Given the description of an element on the screen output the (x, y) to click on. 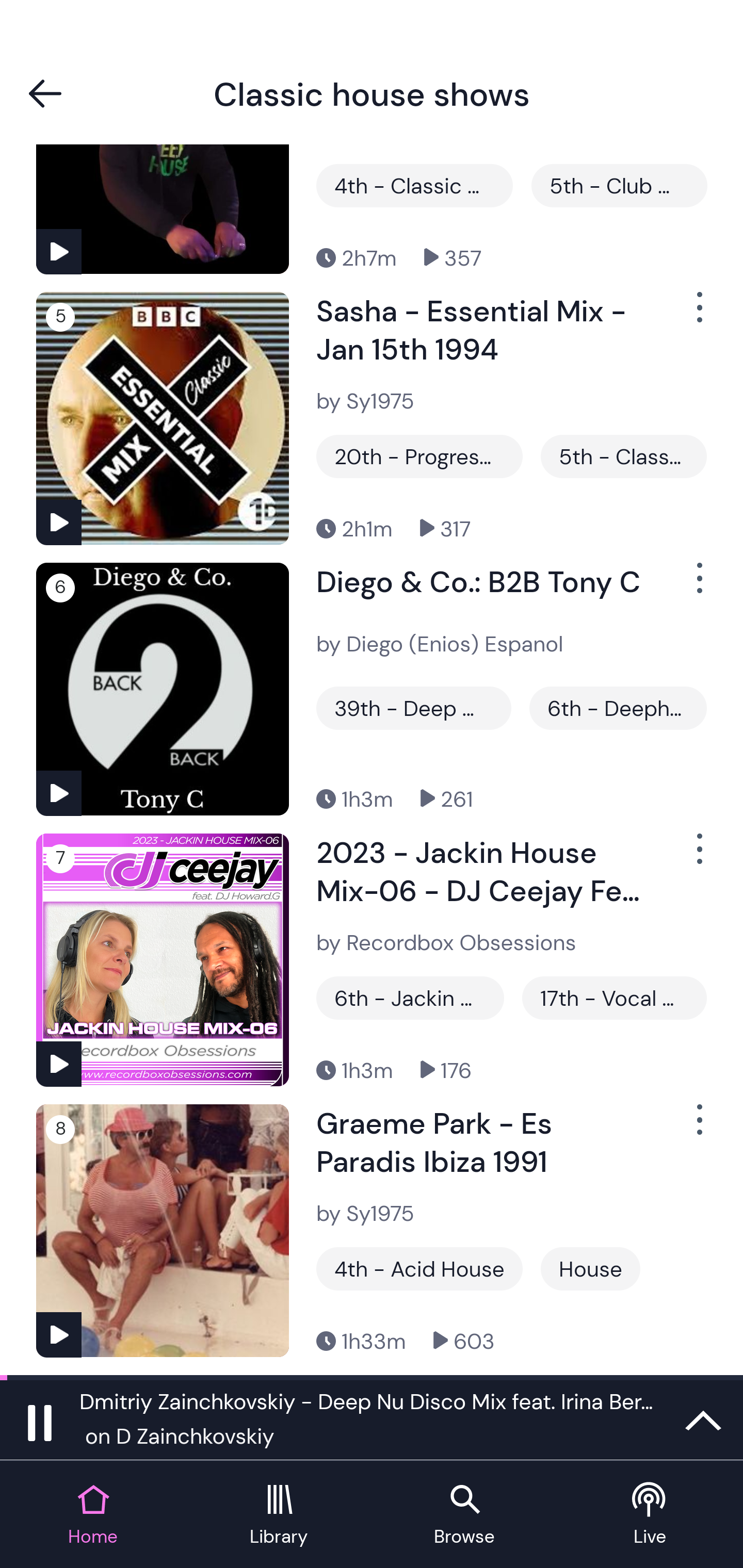
4th - Classic House (414, 185)
5th - Club House (618, 185)
Show Options Menu Button (697, 314)
20th - Progressive House (419, 456)
5th - Classic House (623, 456)
Show Options Menu Button (697, 585)
39th - Deep House (413, 707)
6th - Deephouse (617, 707)
Show Options Menu Button (697, 857)
6th - Jackin House (409, 997)
17th - Vocal House (614, 997)
Show Options Menu Button (697, 1126)
4th - Acid House (419, 1268)
House (590, 1268)
Home tab Home (92, 1515)
Library tab Library (278, 1515)
Browse tab Browse (464, 1515)
Live tab Live (650, 1515)
